Given the description of an element on the screen output the (x, y) to click on. 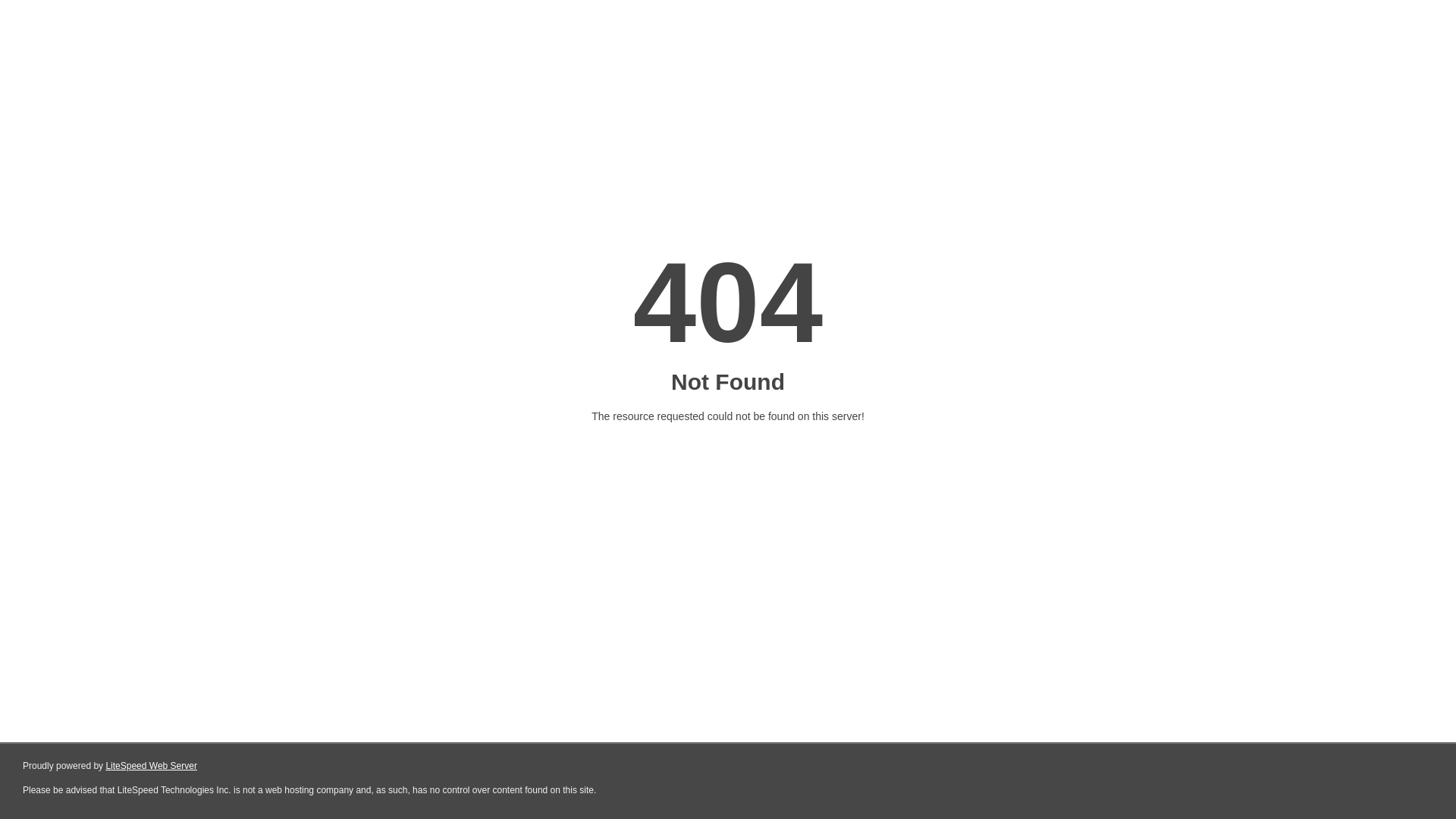
LiteSpeed Web Server Element type: text (151, 765)
